Given the description of an element on the screen output the (x, y) to click on. 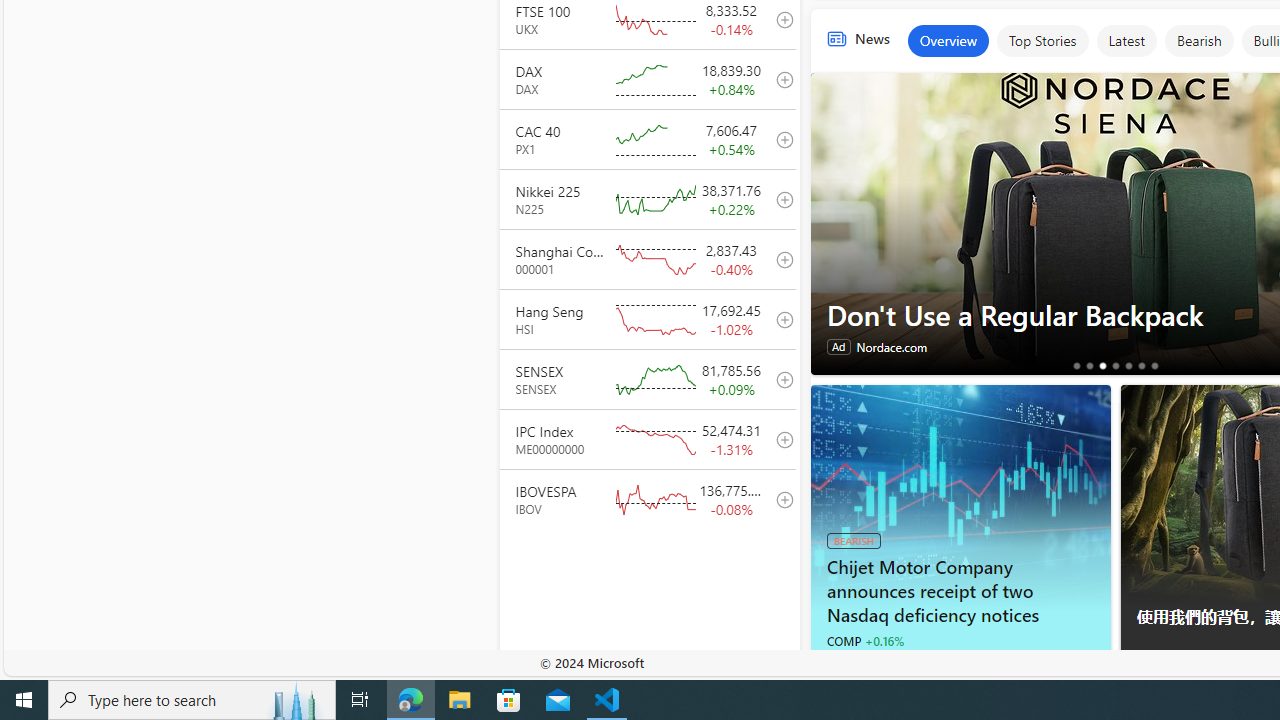
Overview (948, 40)
add to your watchlist (779, 498)
